Given the description of an element on the screen output the (x, y) to click on. 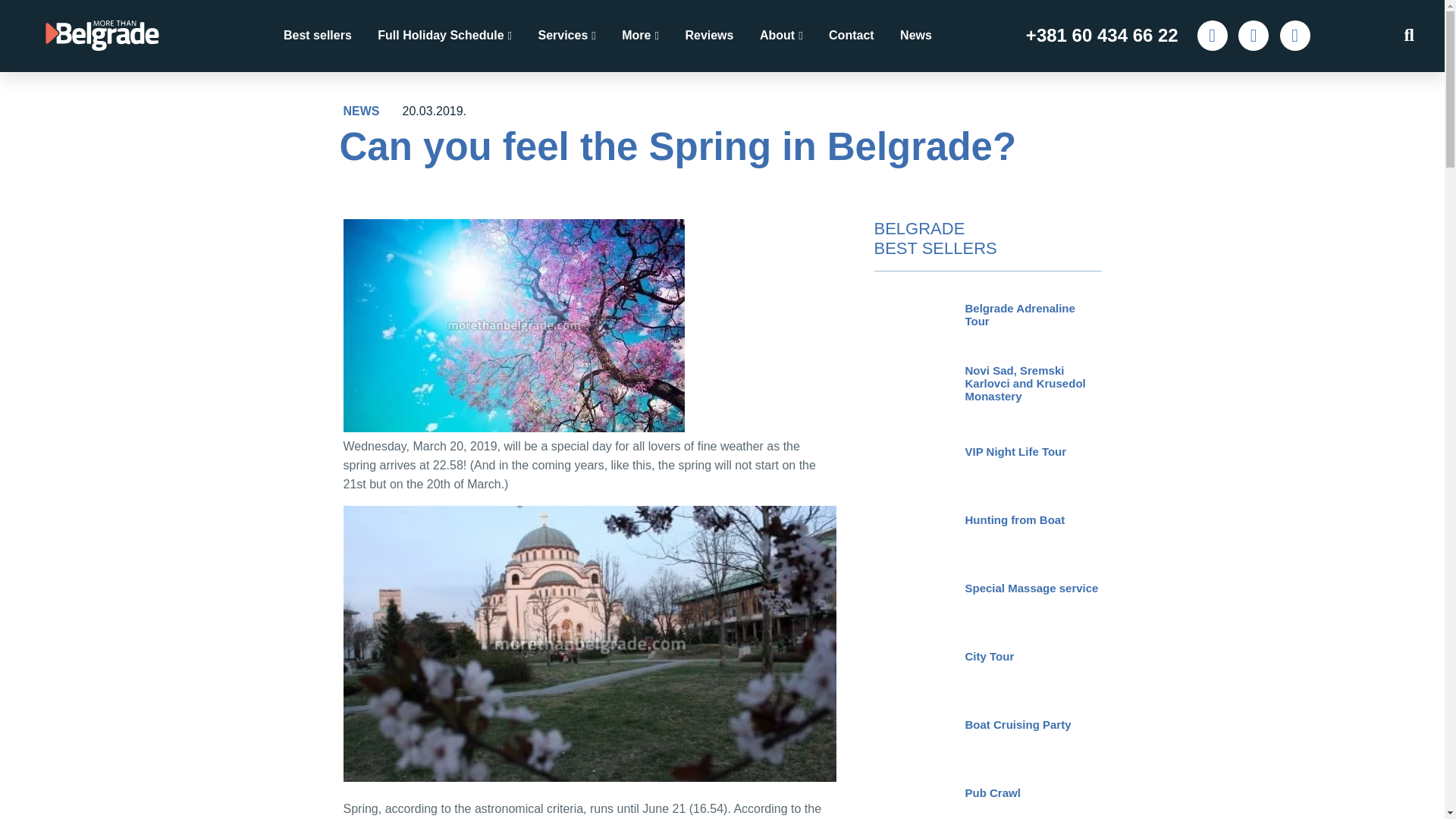
Full Holiday Schedule (444, 34)
Services (566, 34)
Reviews (708, 34)
About (781, 34)
More (640, 34)
Best sellers (317, 34)
News (915, 34)
Contact (851, 34)
